Given the description of an element on the screen output the (x, y) to click on. 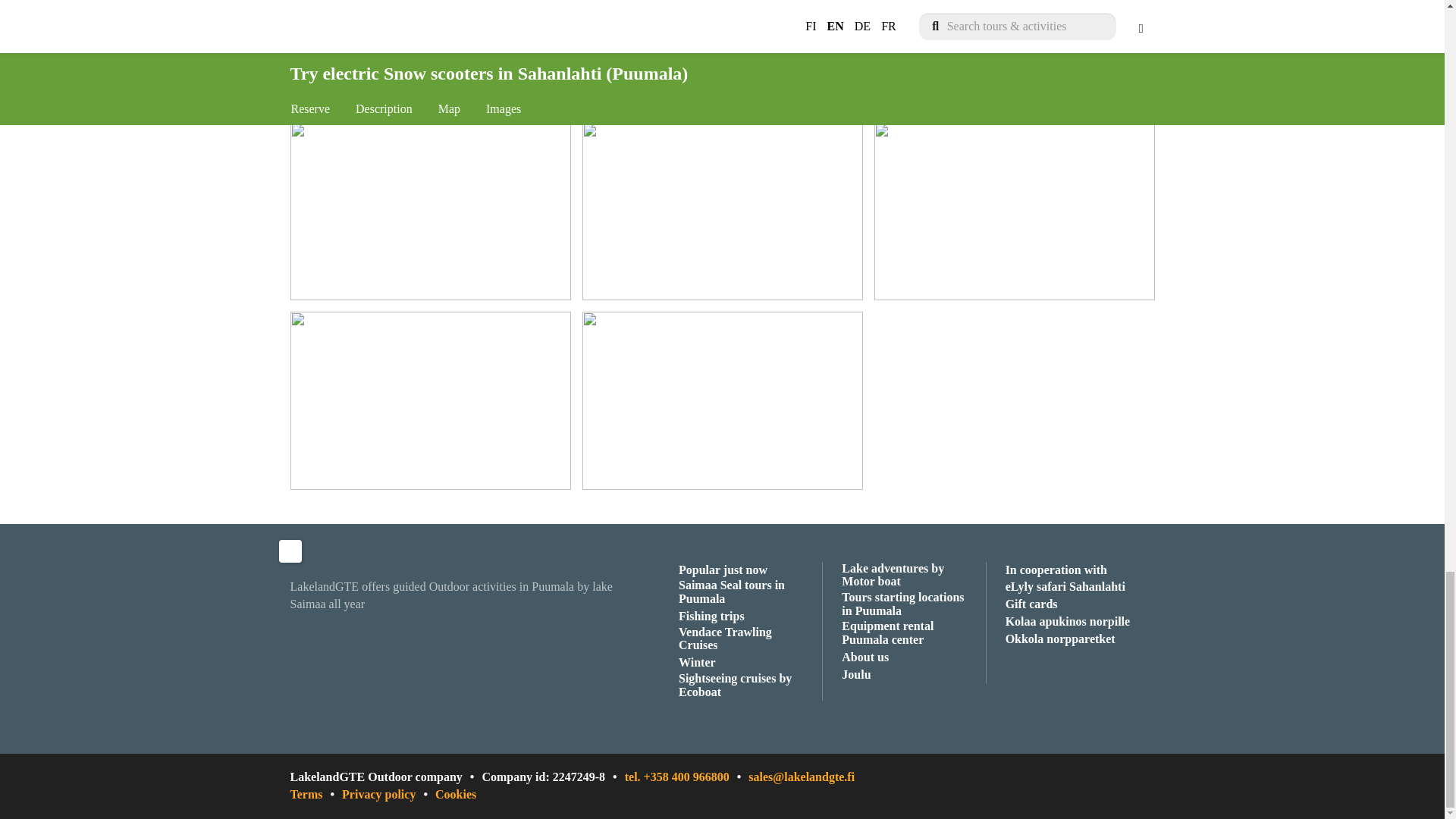
Equipment rental Puumala center (907, 633)
Lake adventures by Motor boat (907, 575)
Saimaa Seal tours in Puumala (744, 592)
Video of Seal trail scenery - Video of Seal trail scenery (722, 400)
Tours starting locations in Puumala (907, 604)
Sightseeing cruises by Ecoboat (744, 685)
Vendace Trawling Cruises (744, 639)
Winter (697, 663)
Fishing trips (711, 616)
Popular just now (722, 570)
About us (864, 657)
